Given the description of an element on the screen output the (x, y) to click on. 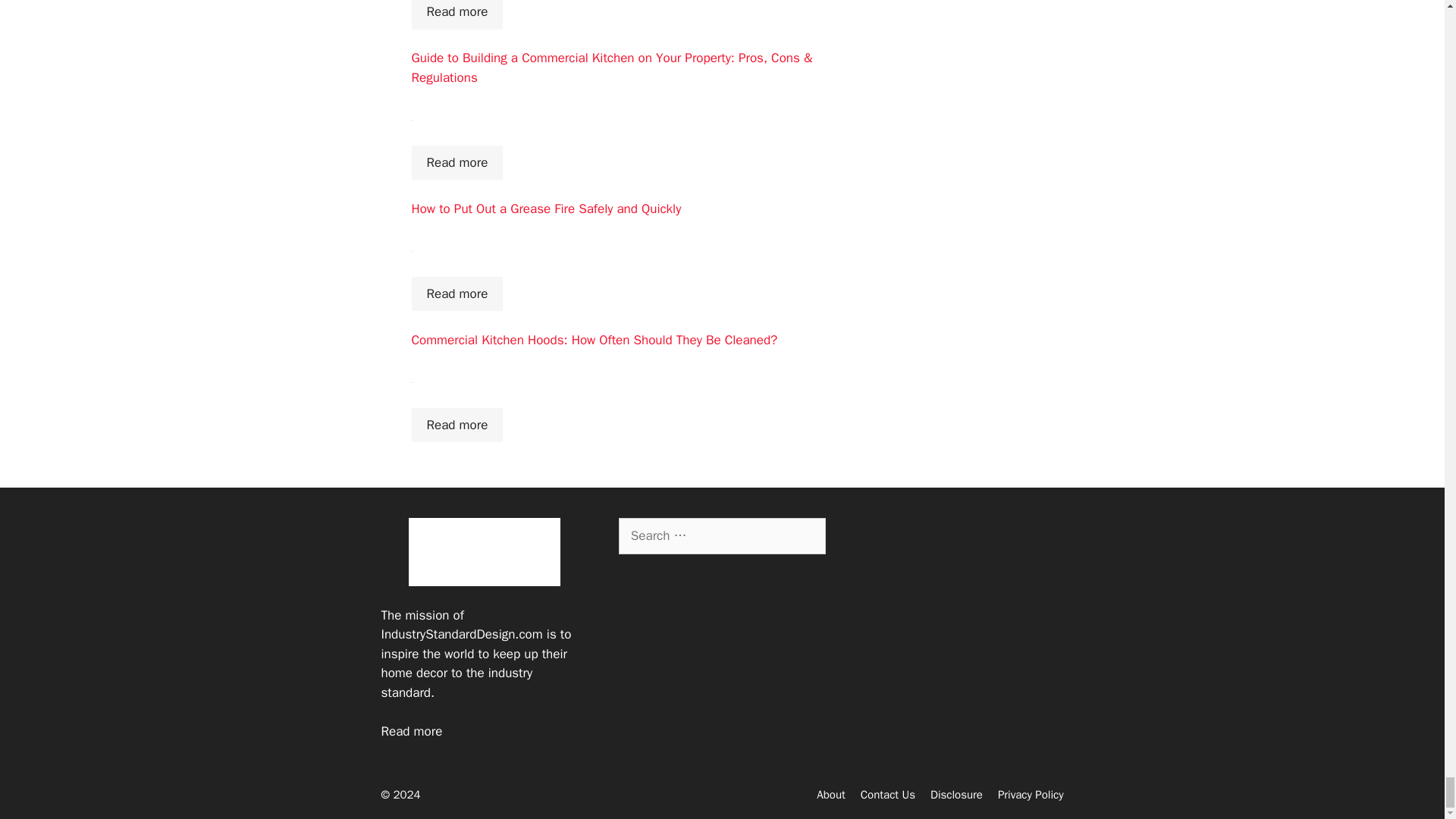
Search for: (721, 535)
Commercial Kitchen Hoods: How Often Should They Be Cleaned? (593, 340)
How to Put Out a Grease Fire Safely and Quickly (545, 208)
